Given the description of an element on the screen output the (x, y) to click on. 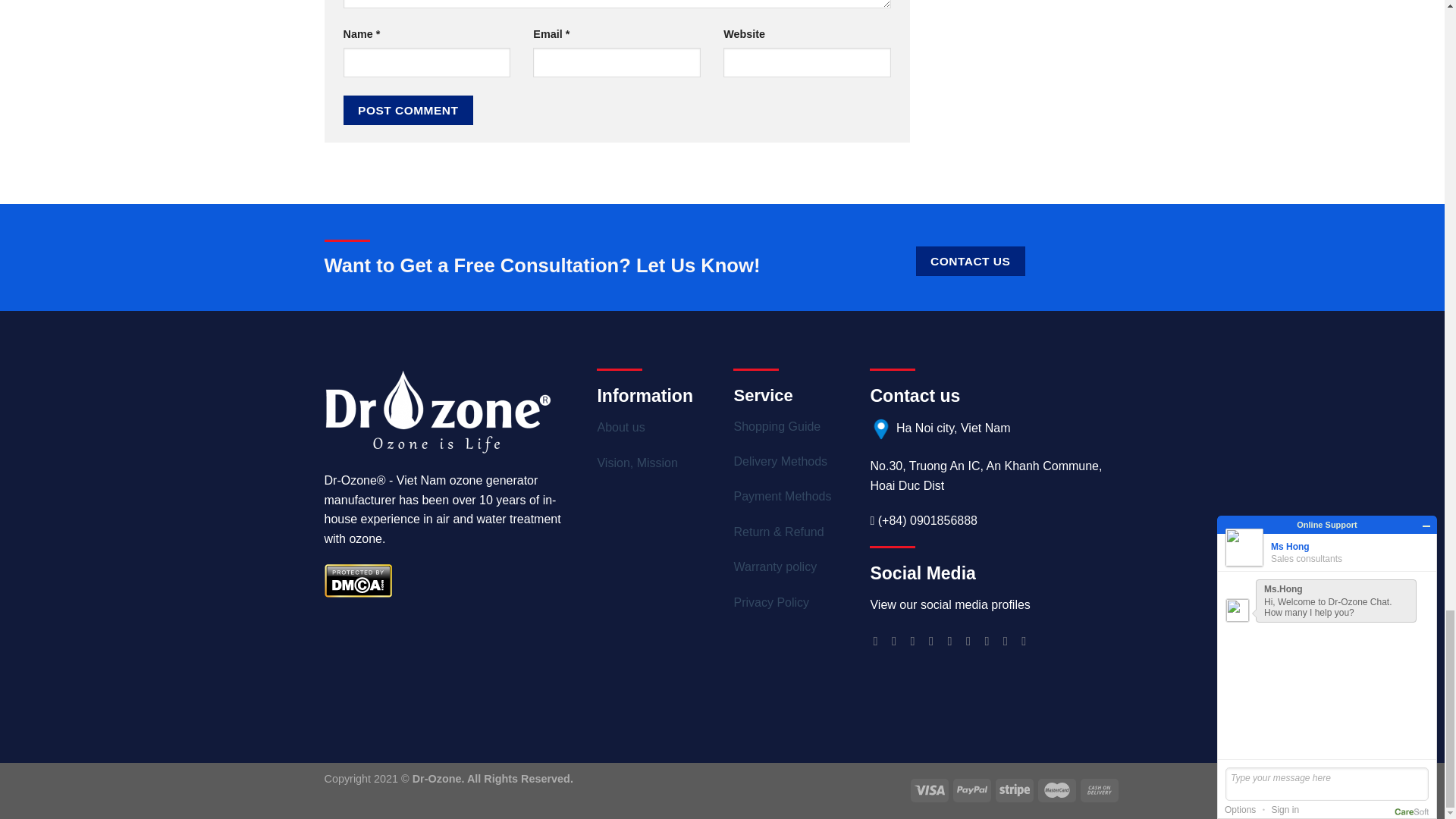
Post Comment (407, 110)
